Given the description of an element on the screen output the (x, y) to click on. 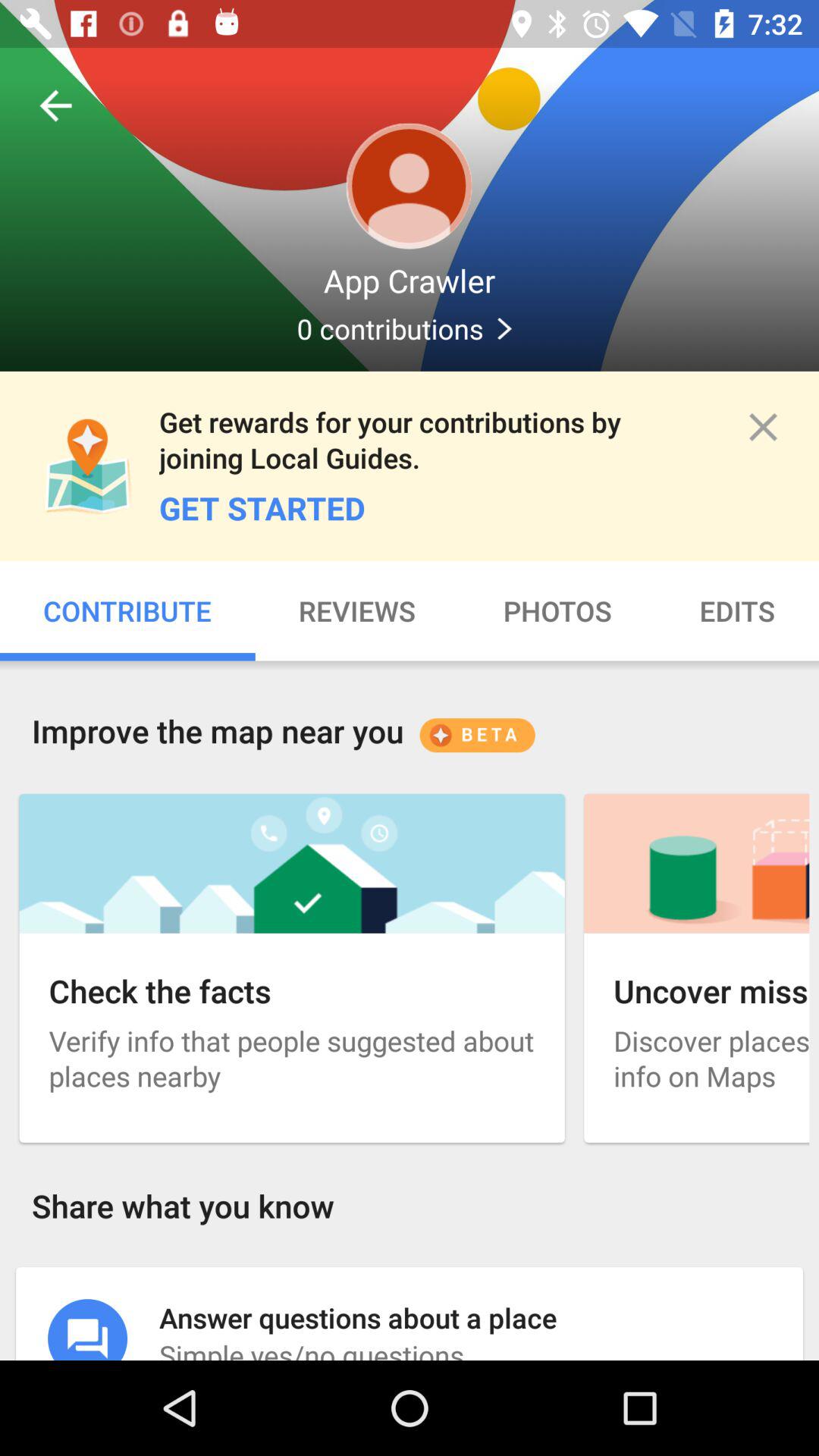
select photos on the page (557, 610)
select the text below share what you know (409, 1312)
select icon which is above contribute on the page (87, 466)
